Given the description of an element on the screen output the (x, y) to click on. 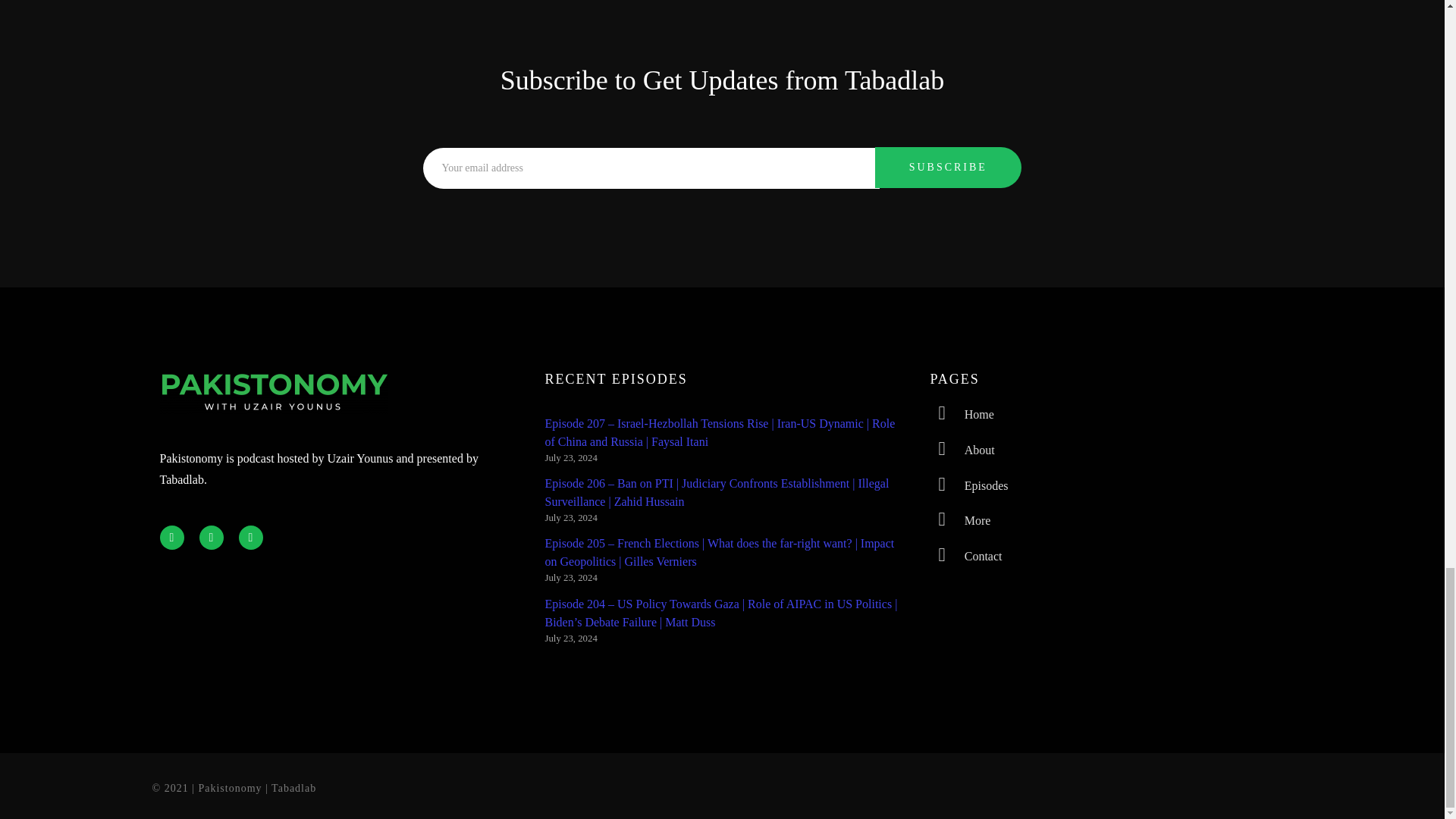
Pakistonomy Logo White-01 (272, 392)
About (1107, 450)
Episodes (1107, 486)
Subscribe (948, 167)
Contact (1107, 556)
Subscribe (948, 167)
More (1107, 521)
Subscribe to Get Updates from Tabadlab (722, 80)
Home (1107, 414)
